Given the description of an element on the screen output the (x, y) to click on. 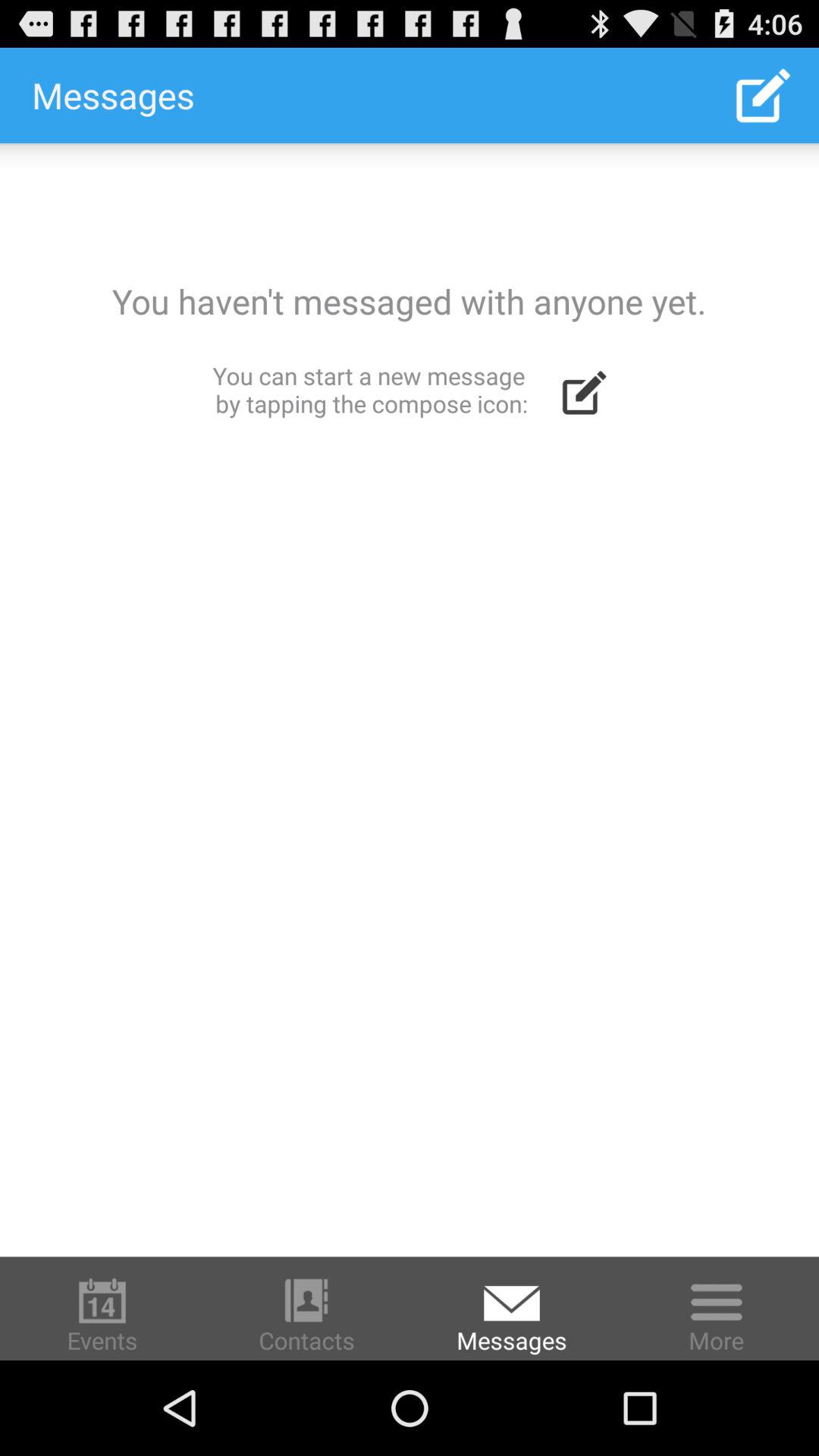
compose a new message (409, 699)
